Given the description of an element on the screen output the (x, y) to click on. 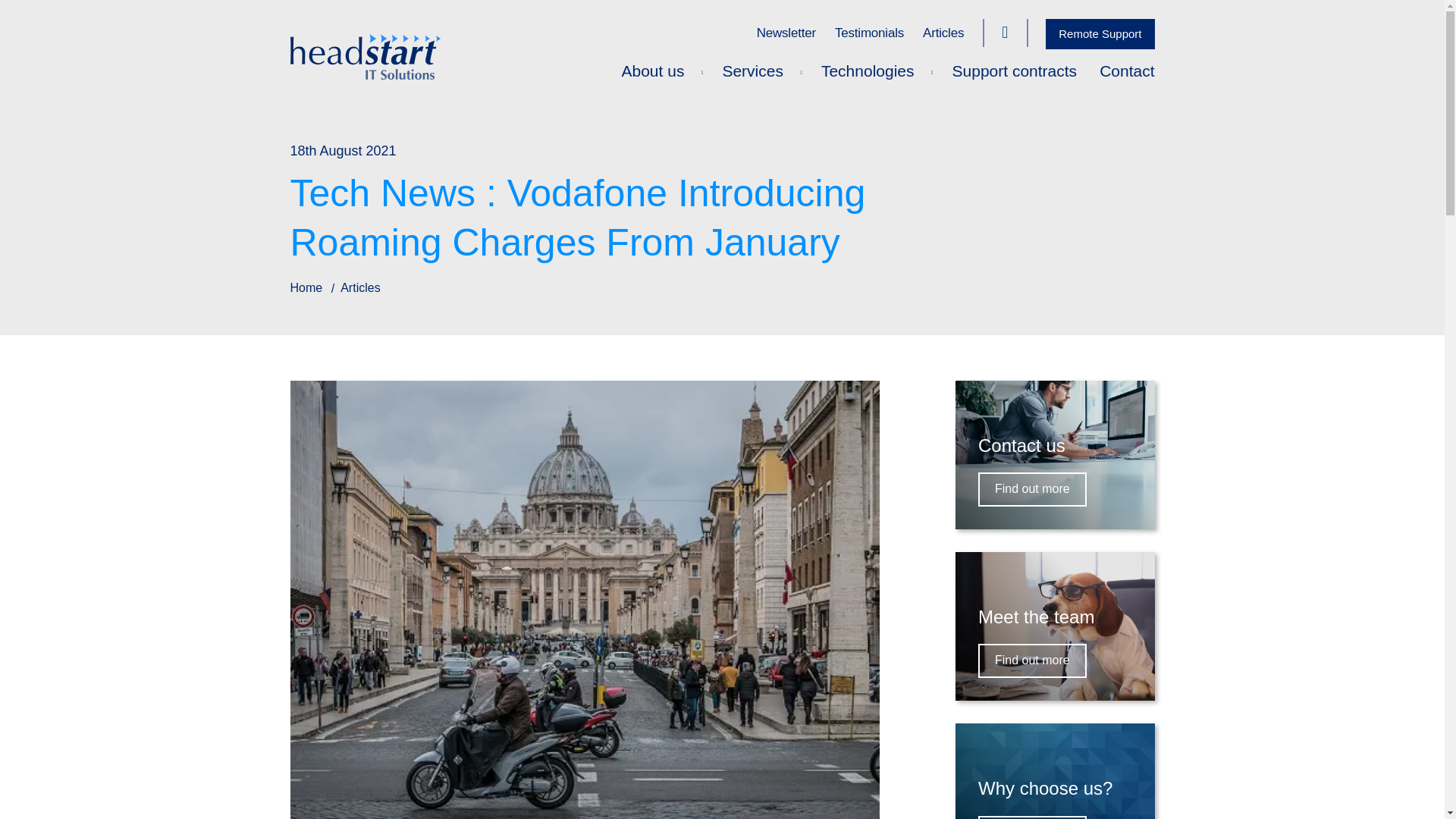
Go to Headstart IT Solutions. (305, 287)
Go to Articles. (360, 287)
Remote Support (1099, 33)
Headstart IT Solutions (721, 56)
